Given the description of an element on the screen output the (x, y) to click on. 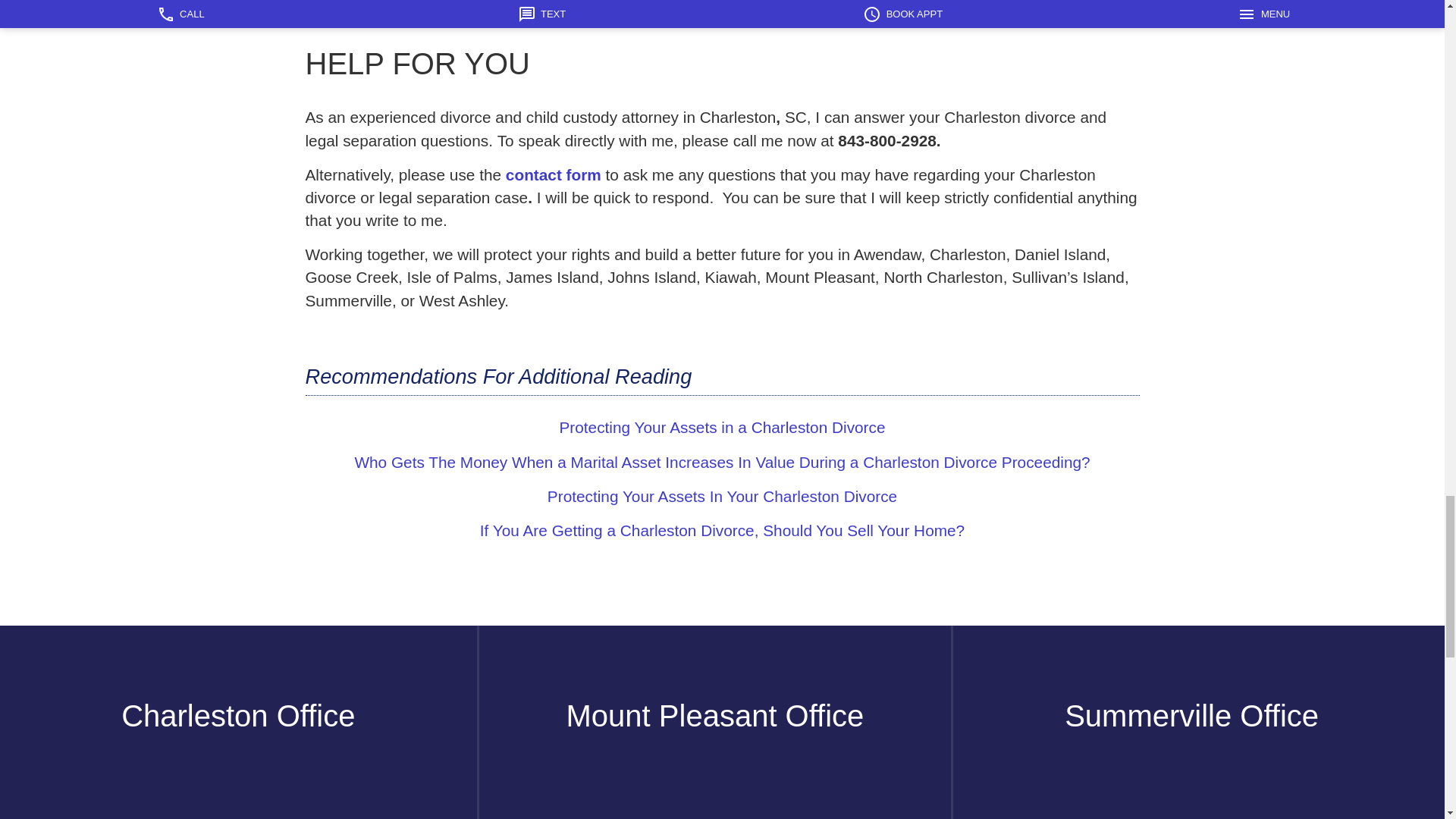
Protecting Your Assets In Your Charleston Divorce (721, 496)
Summerville Office (1191, 715)
contact form (553, 174)
Mount Pleasant Office (715, 715)
Protecting Your Assets In Your Charleston Divorce (721, 496)
Protecting Your Assets In Your Charleston Divorce (722, 426)
